Given the description of an element on the screen output the (x, y) to click on. 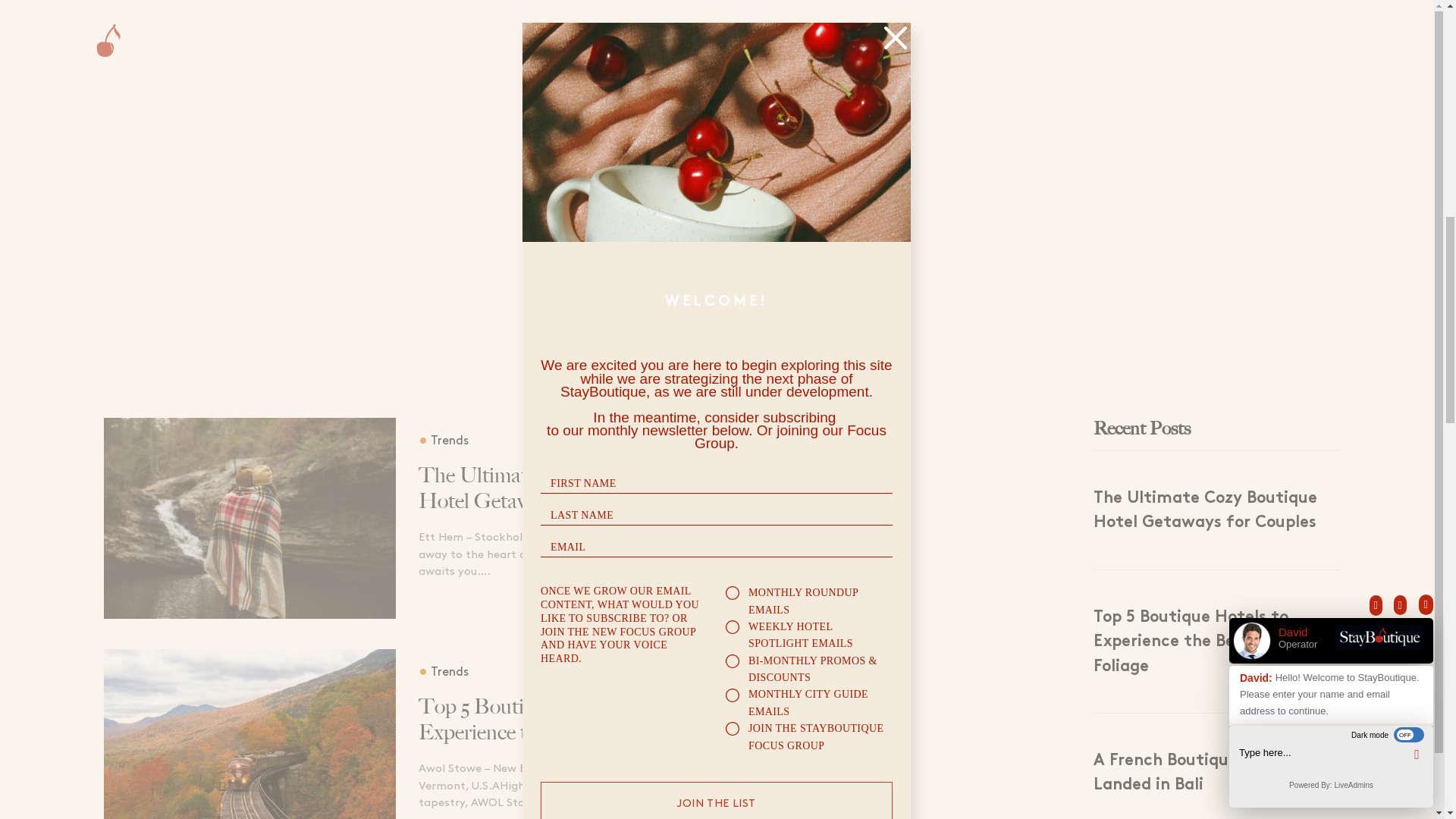
The Ultimate Cozy Boutique Hotel Getaways for Couples (570, 488)
Trends (443, 672)
Top 5 Boutique Hotels to Experience the Best of Fall Foliage (570, 719)
Trends (443, 440)
